Given the description of an element on the screen output the (x, y) to click on. 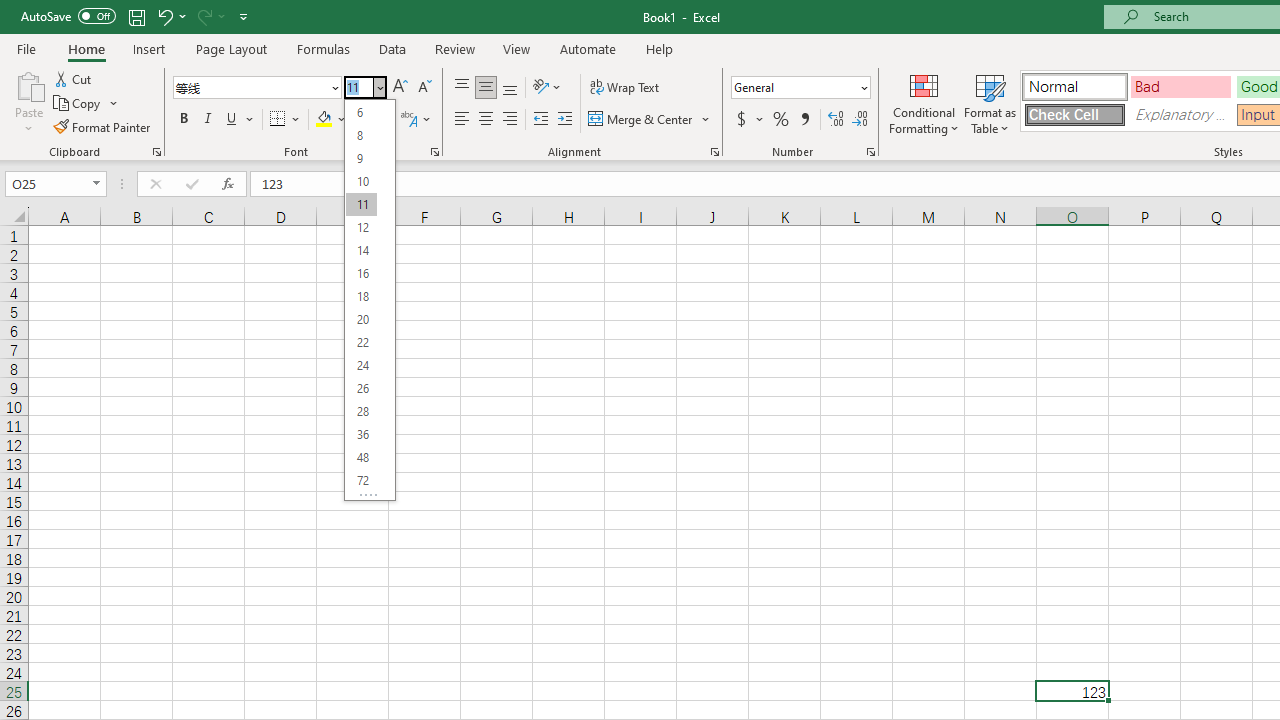
Decrease Indent (540, 119)
Underline (239, 119)
16 (361, 273)
Comma Style (804, 119)
24 (361, 365)
12 (361, 227)
Bottom Border (278, 119)
Font Size (365, 87)
Merge & Center (649, 119)
Merge & Center (641, 119)
Align Right (509, 119)
